Given the description of an element on the screen output the (x, y) to click on. 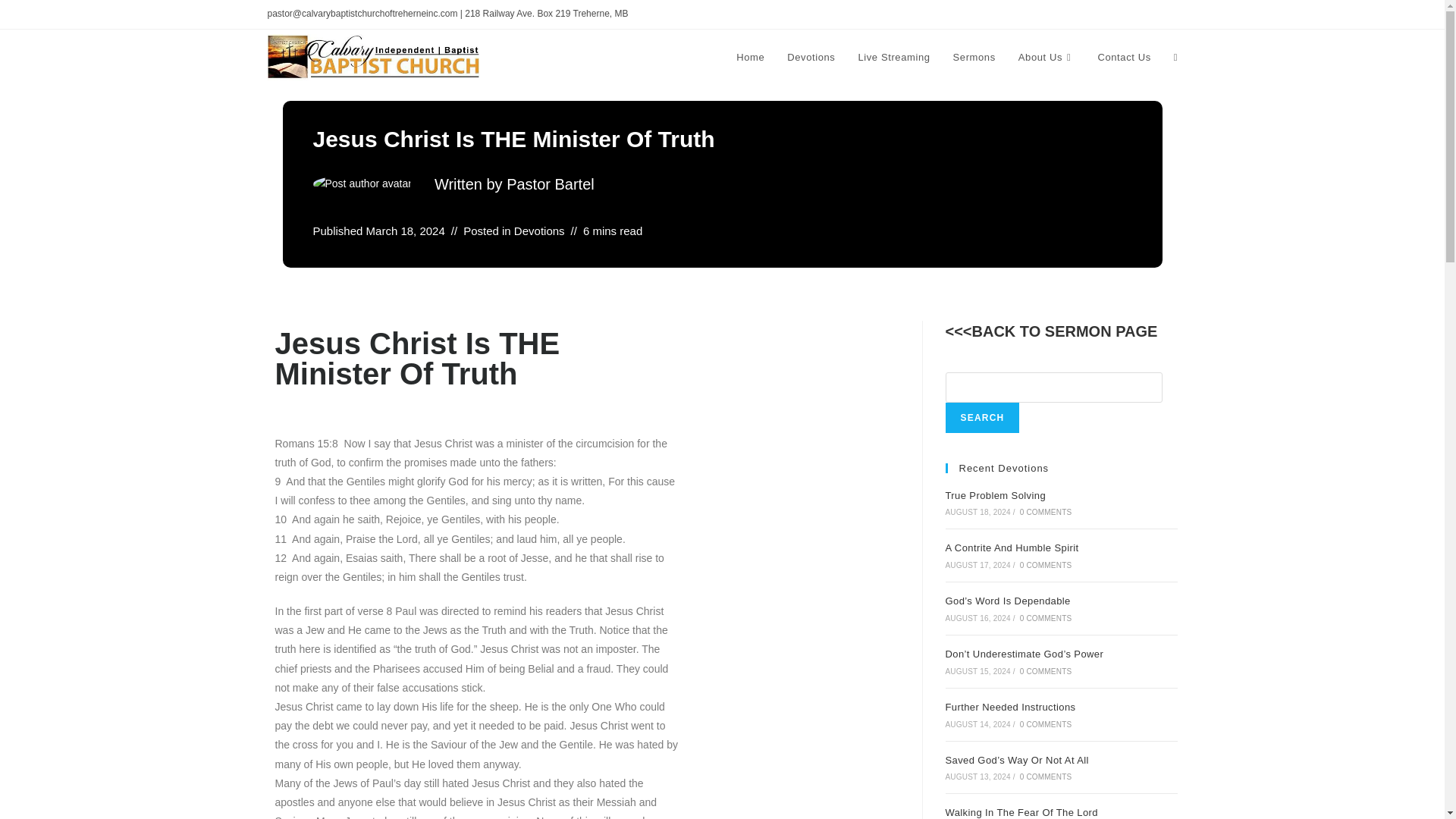
SEARCH (981, 417)
0 COMMENTS (1045, 511)
About Us (1046, 57)
Home (750, 57)
Sermons (974, 57)
Live Streaming (892, 57)
A Contrite And Humble Spirit (1011, 547)
Pastor Bartel (550, 184)
True Problem Solving (994, 495)
Contact Us (1123, 57)
